Given the description of an element on the screen output the (x, y) to click on. 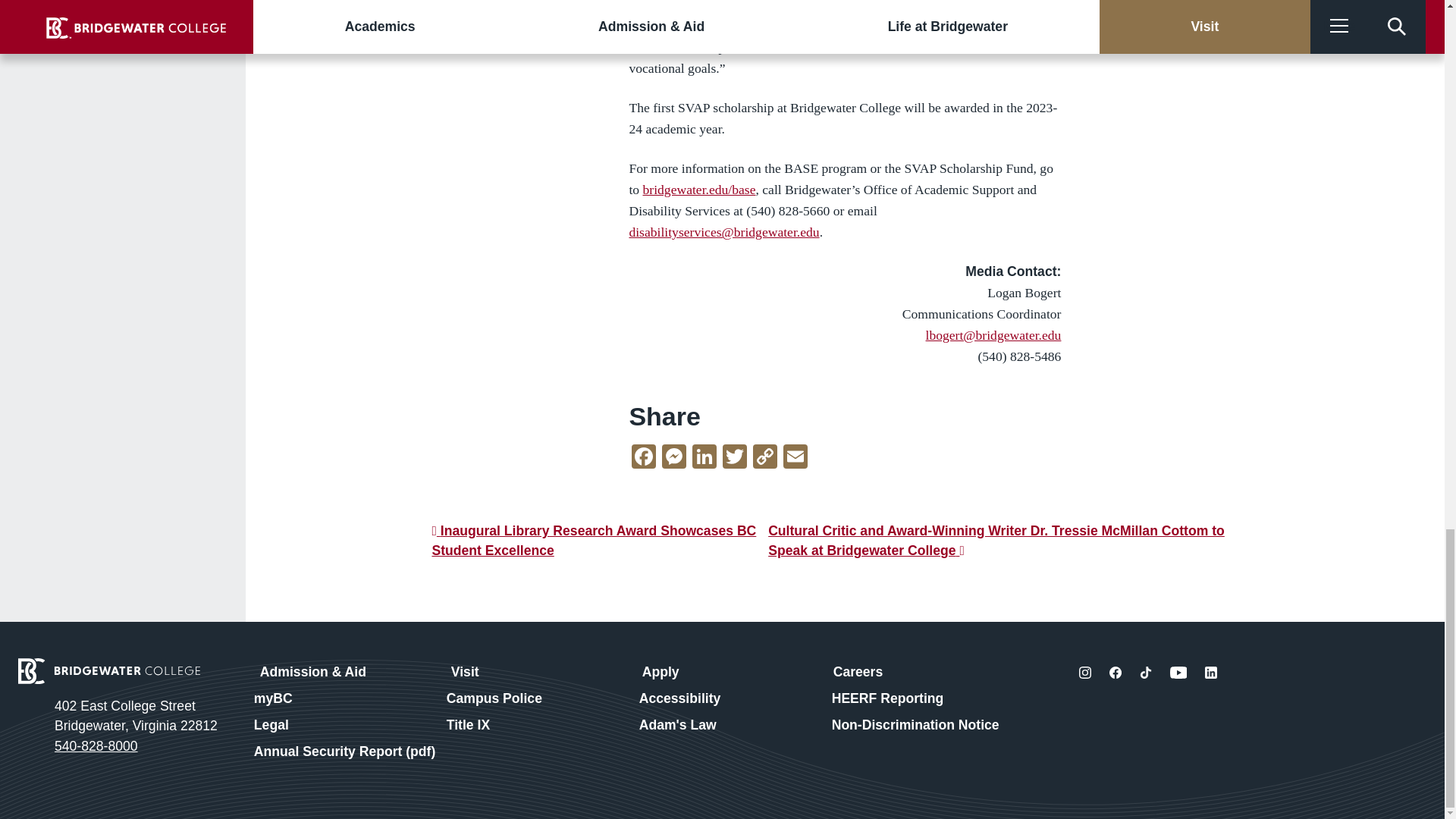
social-youtube (1178, 672)
social-instagram-fill (1084, 672)
Messenger (673, 458)
social-facebook (1115, 672)
LinkedIn (703, 458)
Facebook (643, 458)
